Given the description of an element on the screen output the (x, y) to click on. 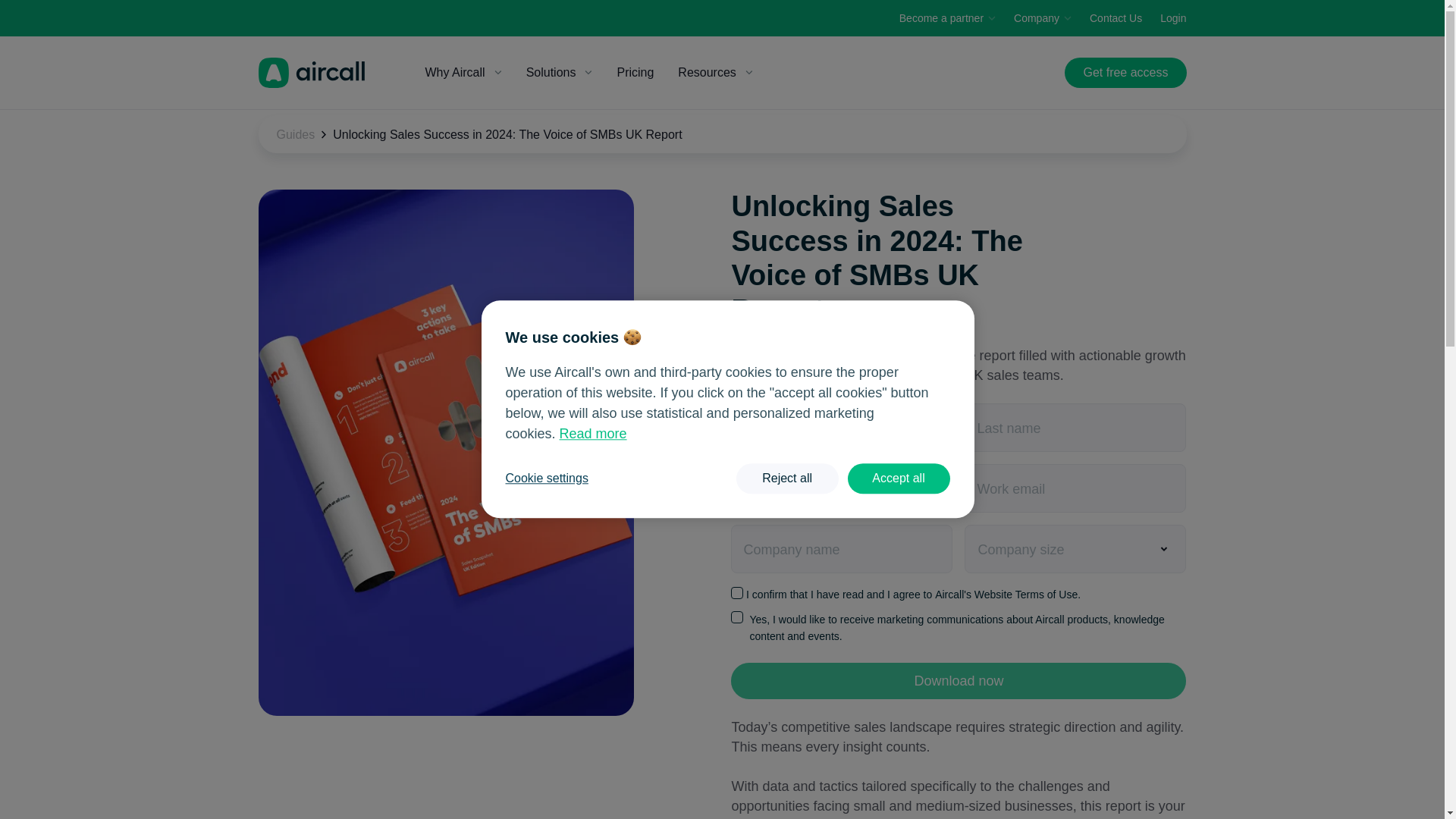
Become a partner (947, 18)
Why Aircall (462, 72)
Solutions (559, 72)
Company (1042, 18)
Contact Us (1115, 18)
